Given the description of an element on the screen output the (x, y) to click on. 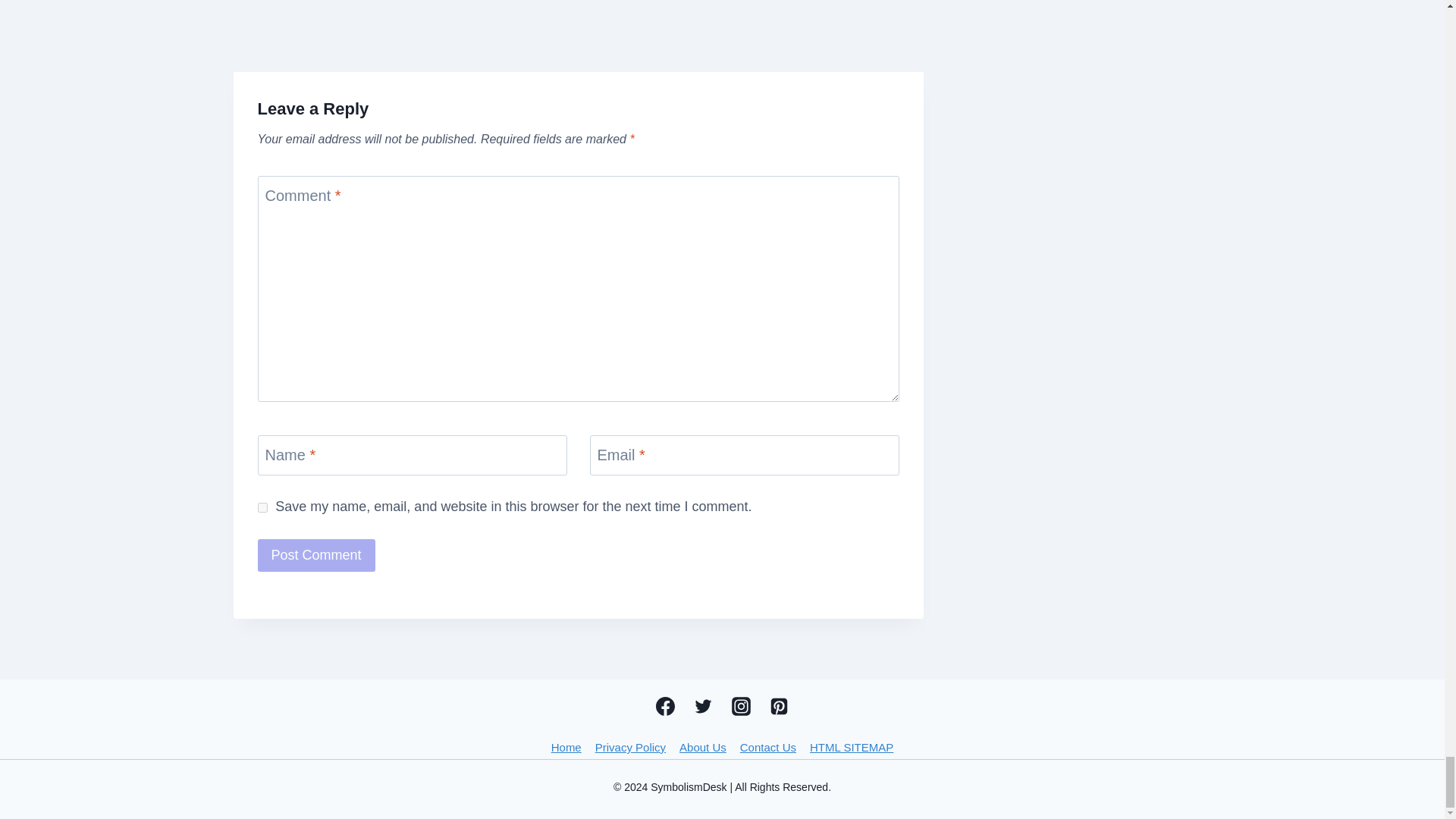
Post Comment (316, 554)
yes (262, 507)
